Given the description of an element on the screen output the (x, y) to click on. 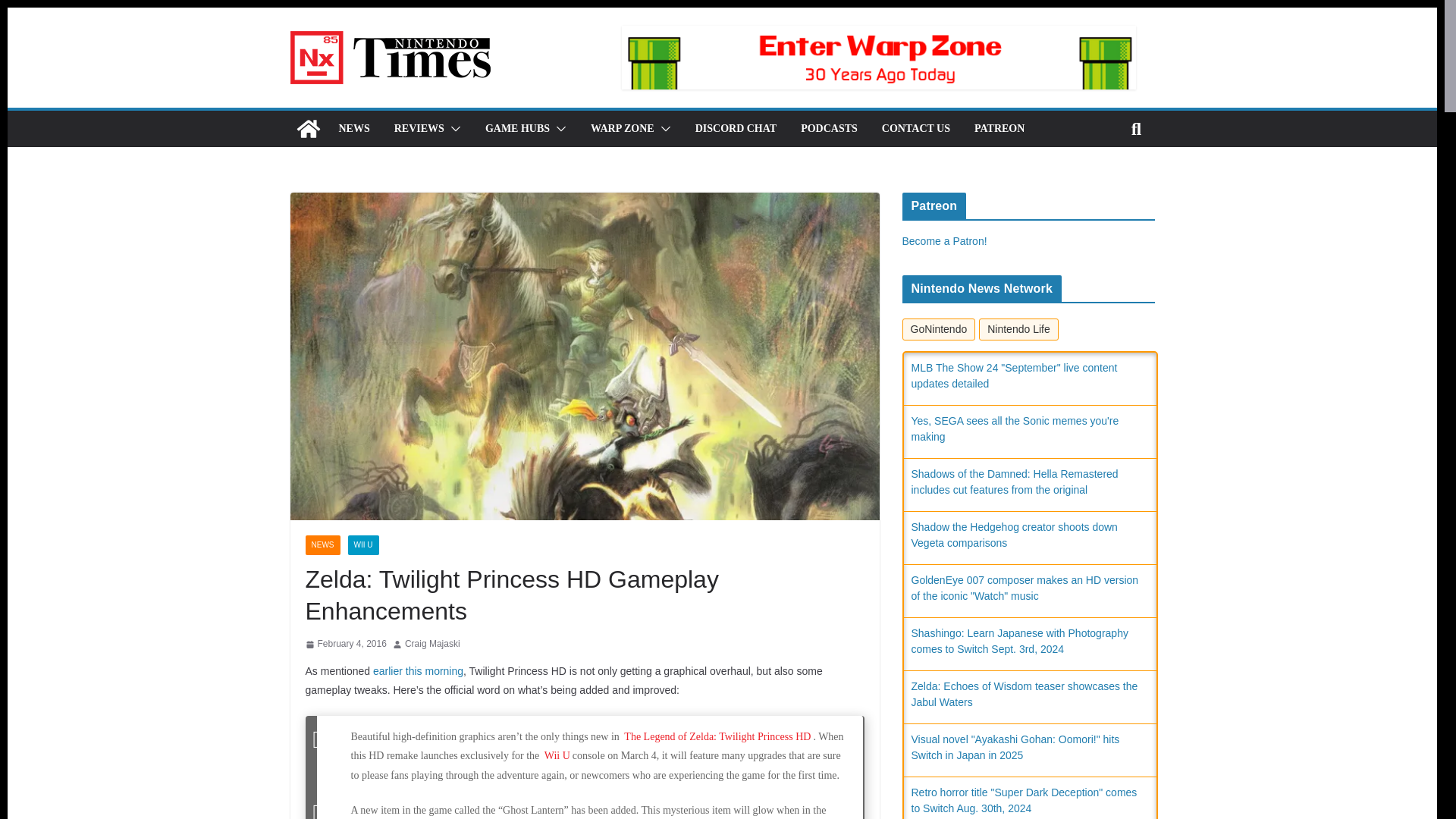
8:13 AM (344, 644)
GAME HUBS (517, 128)
MLB The Show 24 "September" live content updates detailed (1014, 375)
Wii U (556, 755)
PODCASTS (828, 128)
CONTACT US (916, 128)
Craig Majaski (432, 644)
Nintendo Times (307, 128)
DISCORD CHAT (735, 128)
